Given the description of an element on the screen output the (x, y) to click on. 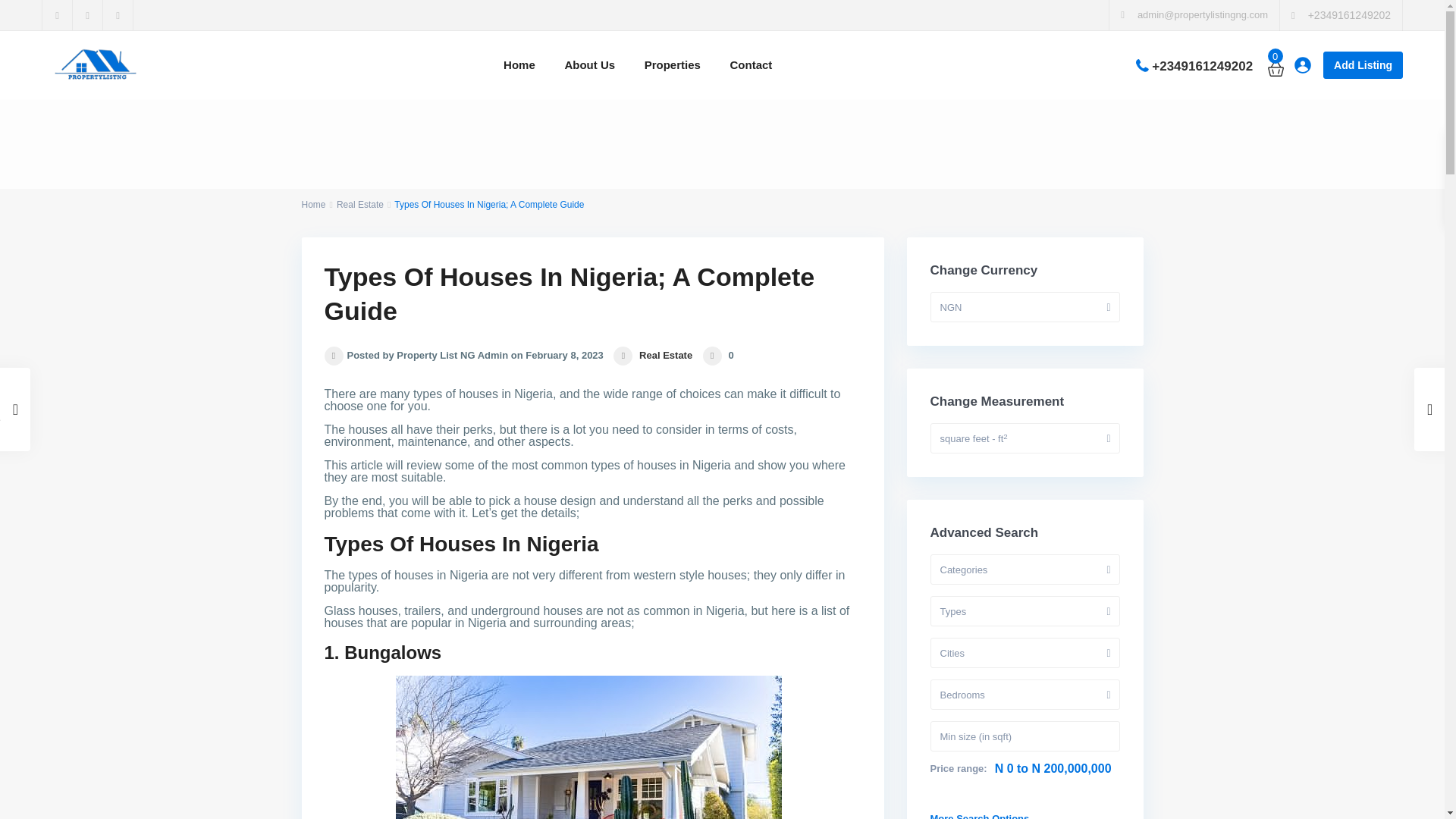
Properties (672, 65)
About Us (589, 65)
Contact (751, 65)
Add Listing (1363, 64)
Real Estate (666, 355)
Home (313, 204)
Real Estate (360, 204)
